Given the description of an element on the screen output the (x, y) to click on. 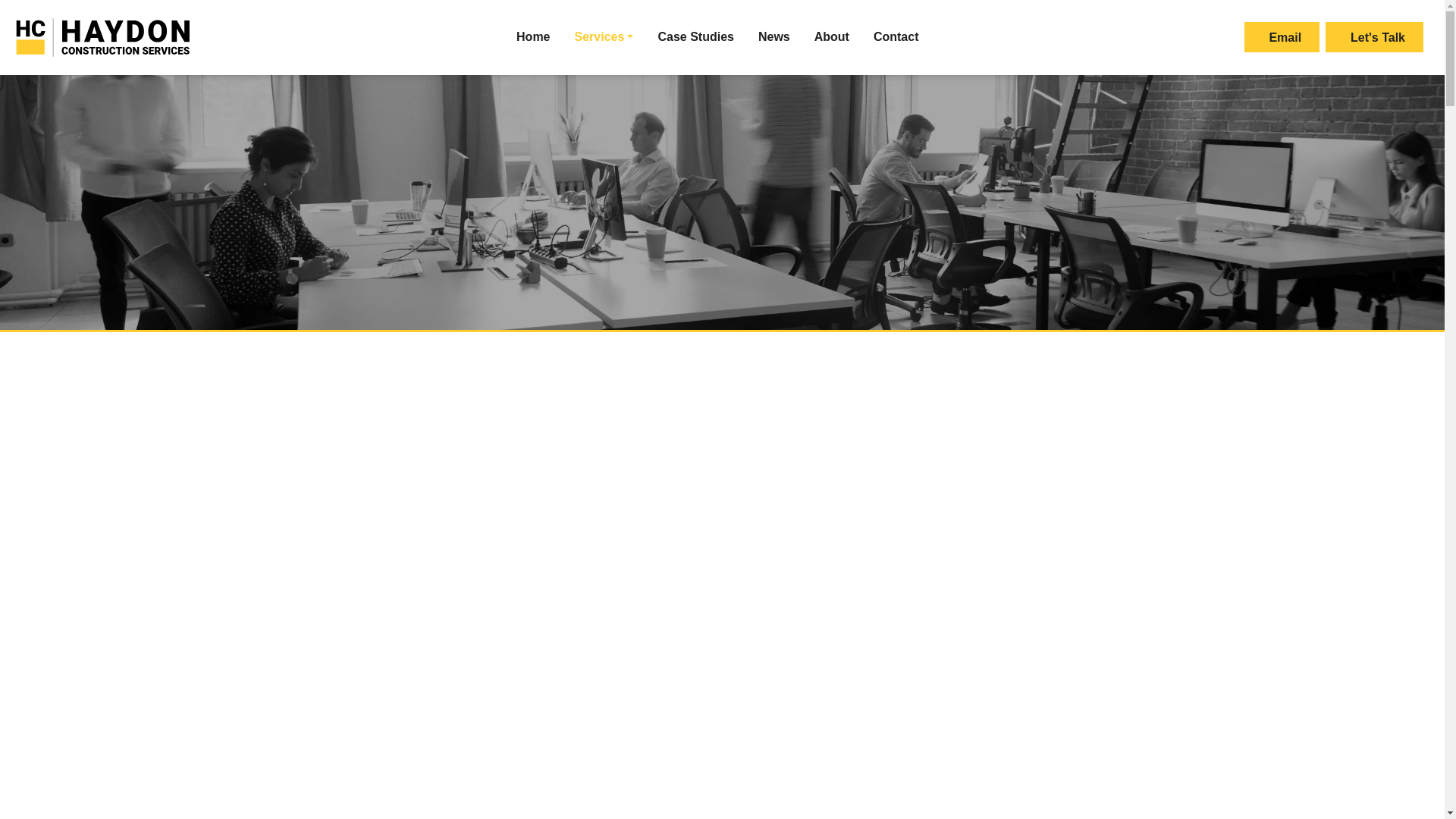
Contact (895, 37)
Case Studies (694, 37)
Services (604, 37)
About (832, 37)
News (774, 37)
  Let's Talk (1373, 37)
Home (533, 37)
  Email (1282, 37)
